Given the description of an element on the screen output the (x, y) to click on. 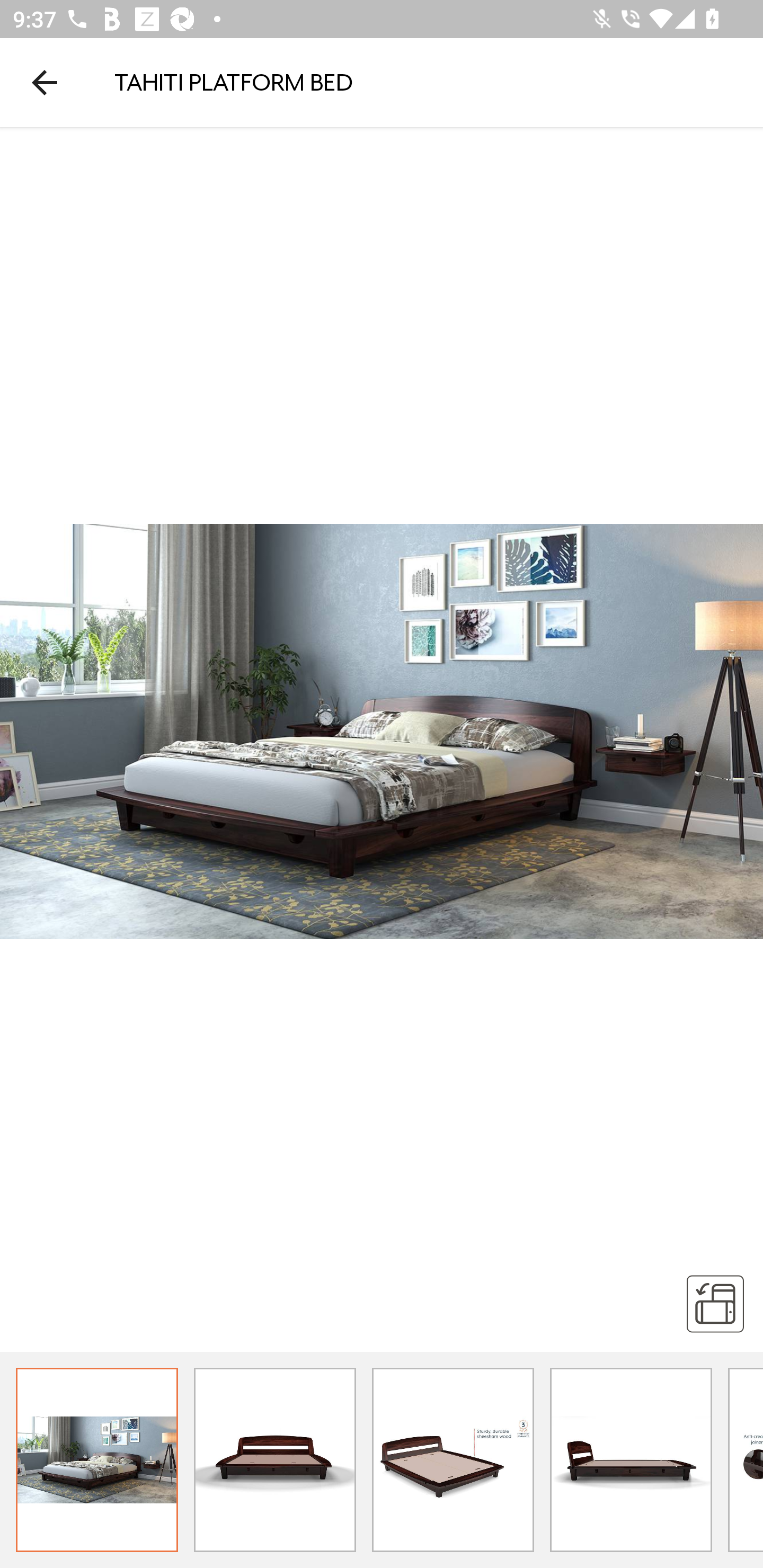
Navigate up (44, 82)
 (715, 1302)
